Given the description of an element on the screen output the (x, y) to click on. 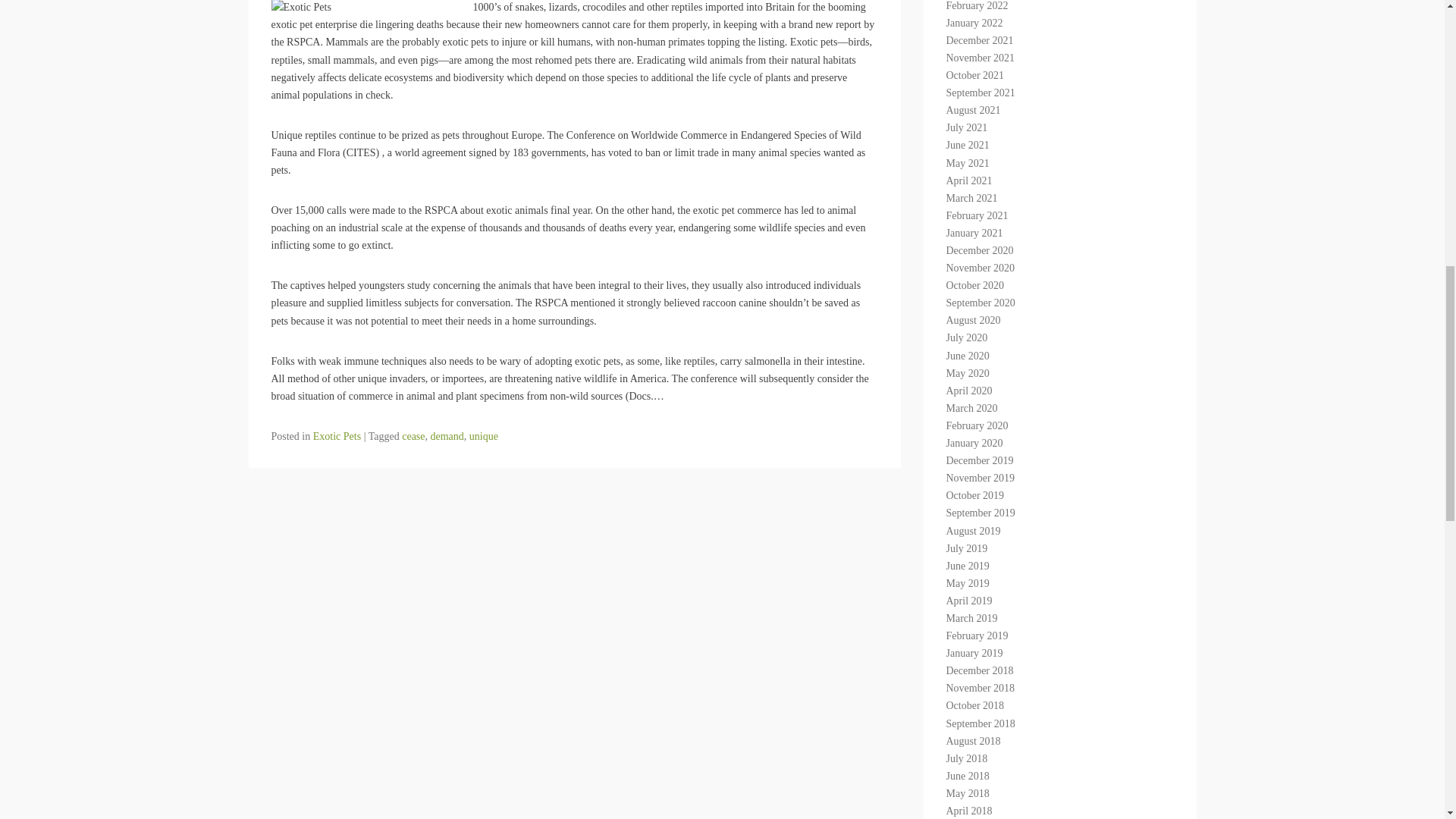
Exotic Pets (337, 436)
demand (447, 436)
cease (413, 436)
unique (482, 436)
